Given the description of an element on the screen output the (x, y) to click on. 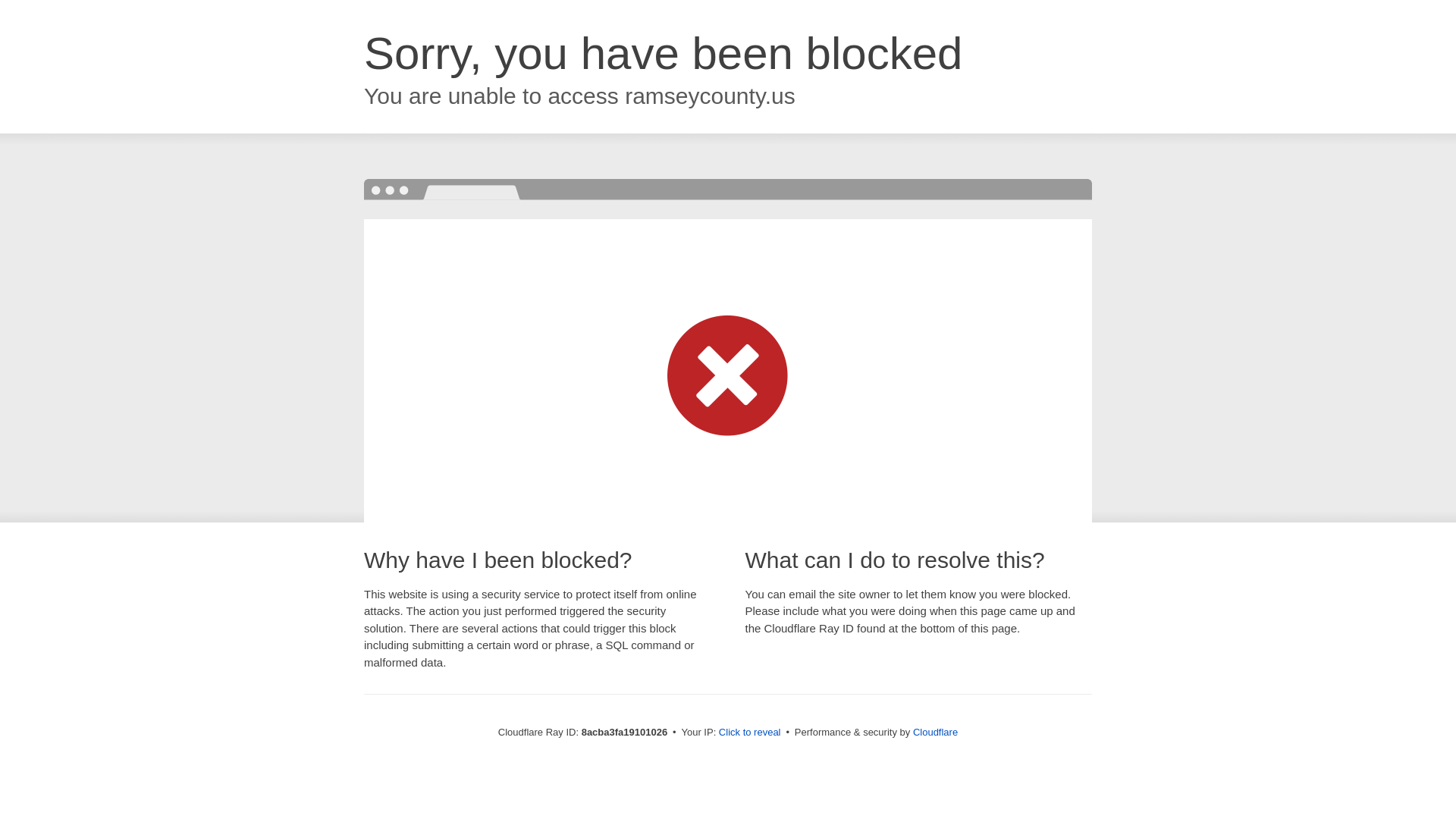
Cloudflare (935, 731)
Click to reveal (749, 732)
